Given the description of an element on the screen output the (x, y) to click on. 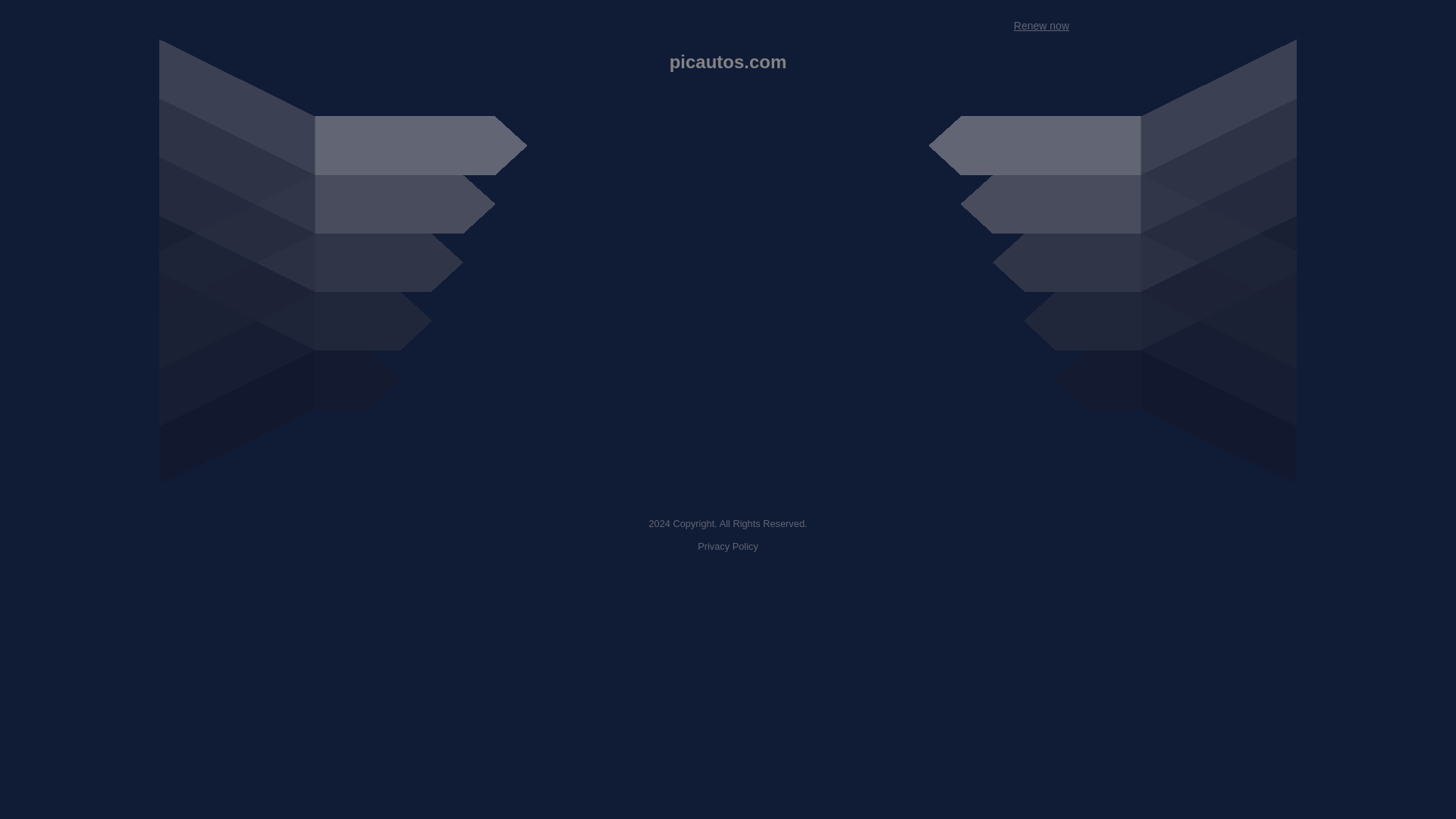
Privacy Policy (727, 546)
Renew now (1040, 25)
